Given the description of an element on the screen output the (x, y) to click on. 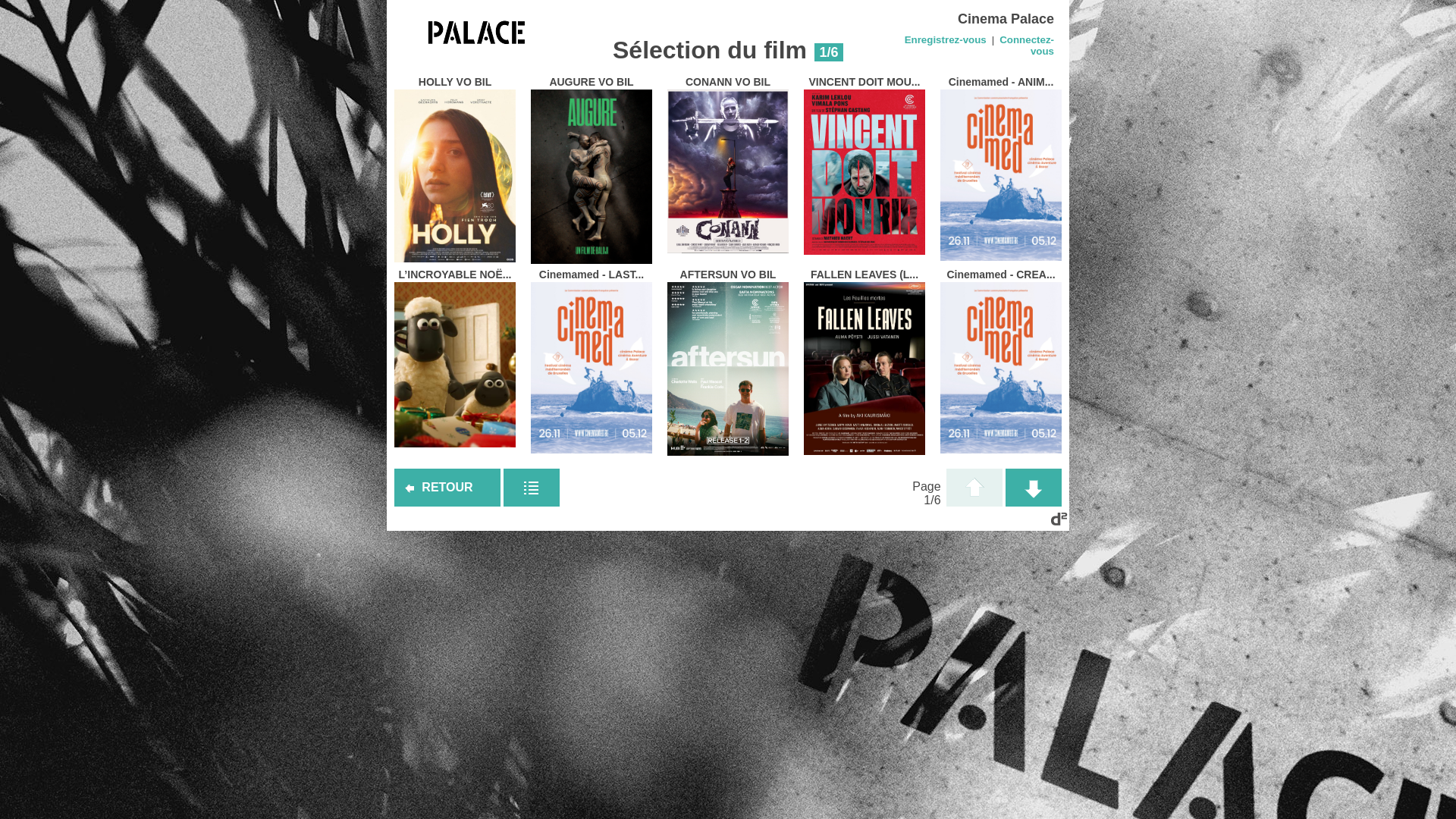
Enregistrez-vous Element type: text (945, 39)
Retour Element type: text (447, 487)
Connectez-vous Element type: text (1026, 45)
